Given the description of an element on the screen output the (x, y) to click on. 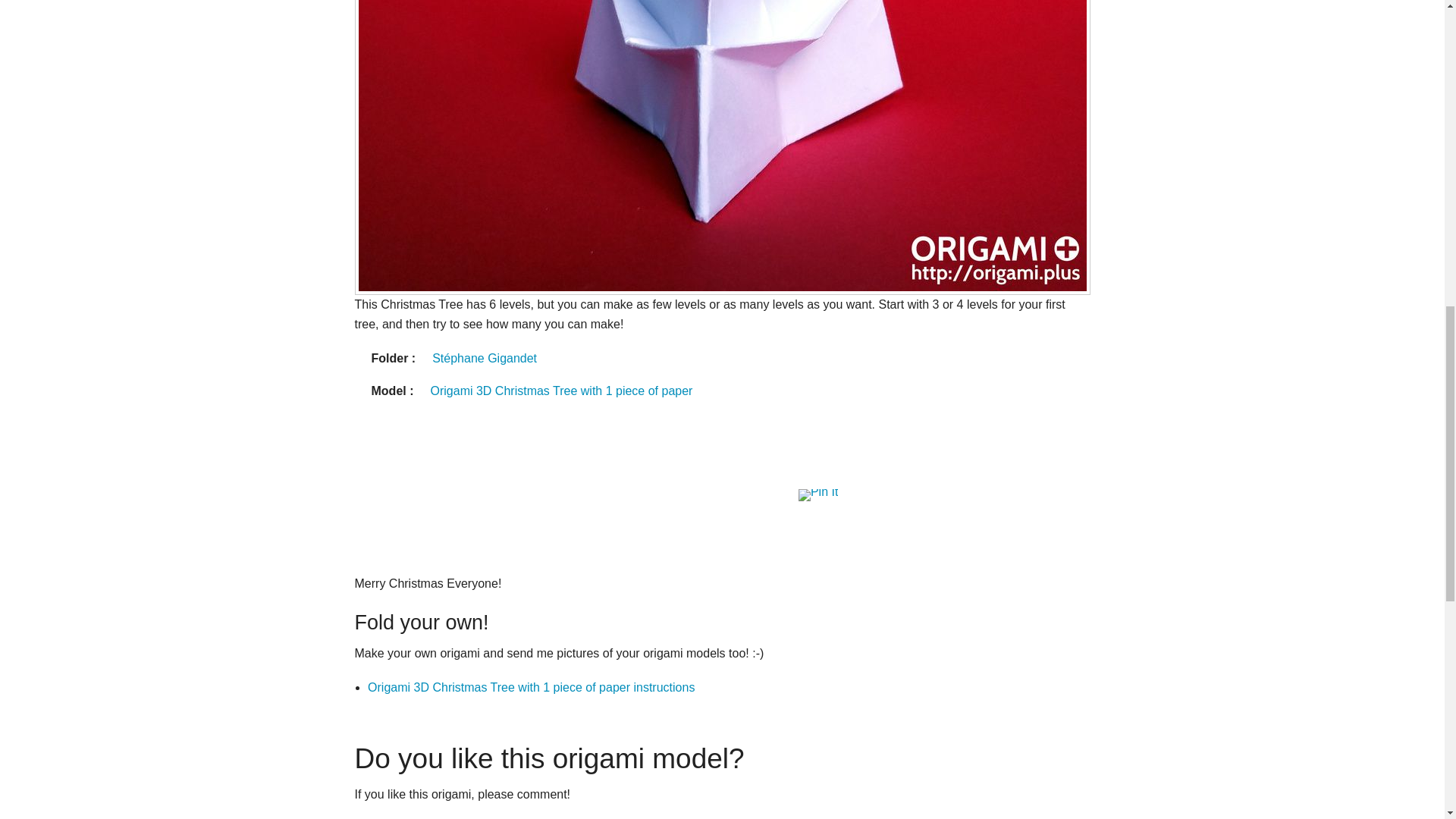
Origami 3D Christmas Tree with 1 piece of paper pictures (531, 686)
Origami 3D Christmas Tree with 1 piece of paper pictures (561, 391)
Origami 3D Christmas Tree with 1 piece of paper (561, 391)
Origami 3D Christmas Tree with 1 piece of paper instructions (531, 686)
Pin It (817, 494)
